Given the description of an element on the screen output the (x, y) to click on. 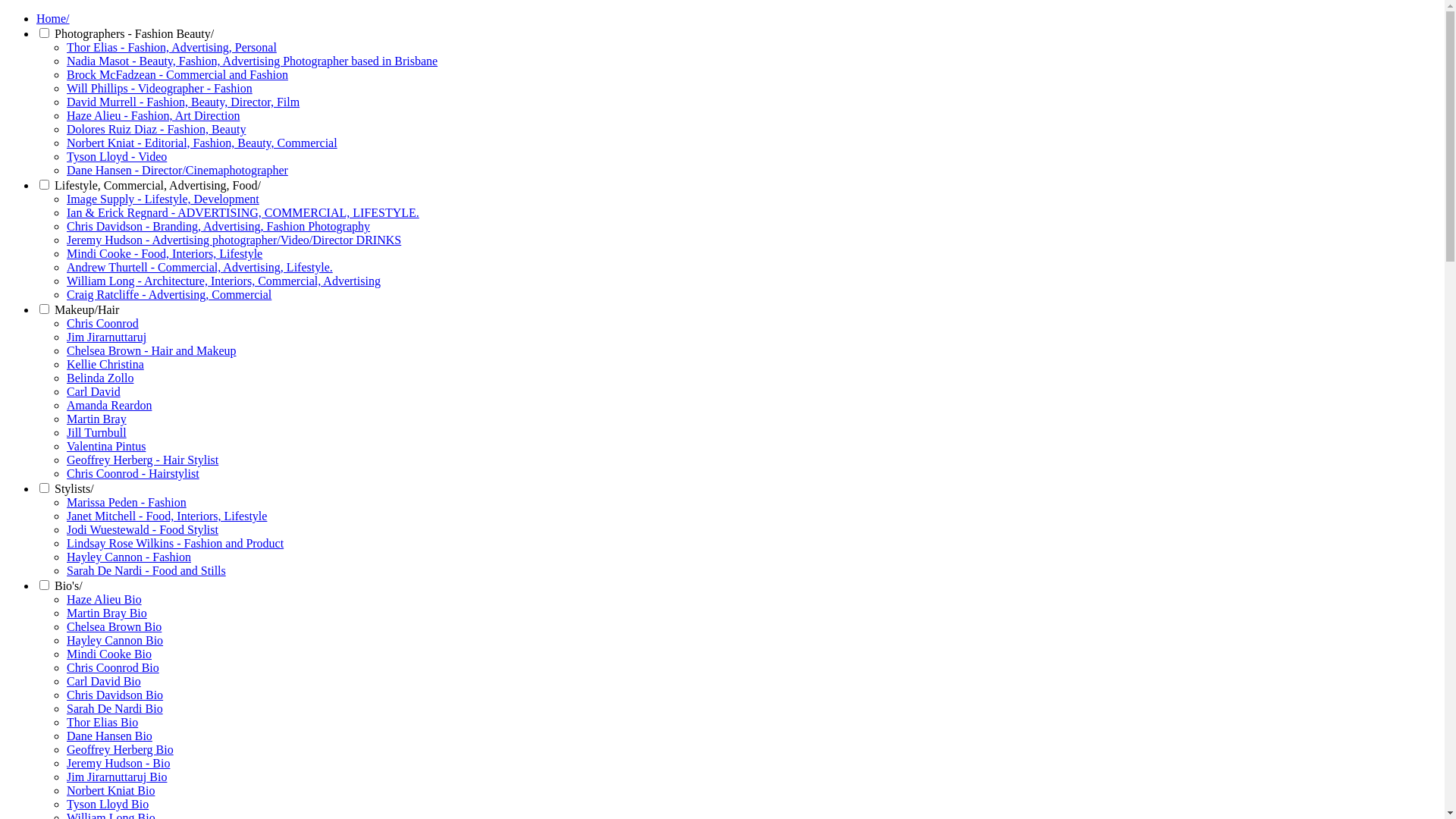
Sarah De Nardi - Food and Stills Element type: text (145, 570)
Brock McFadzean - Commercial and Fashion Element type: text (177, 74)
Geoffrey Herberg - Hair Stylist Element type: text (142, 459)
Photographers - Fashion Beauty/ Element type: text (133, 33)
Mindi Cooke Bio Element type: text (108, 653)
Jim Jirarnuttaruj Element type: text (106, 336)
Jim Jirarnuttaruj Bio Element type: text (116, 776)
Belinda Zollo Element type: text (99, 377)
Bio's/ Element type: text (68, 585)
Chris Davidson - Branding, Advertising, Fashion Photography Element type: text (218, 225)
Home/ Element type: text (52, 18)
Stylists/ Element type: text (74, 488)
Thor Elias Bio Element type: text (102, 721)
Marissa Peden - Fashion Element type: text (126, 501)
Valentina Pintus Element type: text (105, 445)
Chris Coonrod - Hairstylist Element type: text (132, 473)
Image Supply - Lifestyle, Development Element type: text (162, 198)
David Murrell - Fashion, Beauty, Director, Film Element type: text (182, 101)
Thor Elias - Fashion, Advertising, Personal Element type: text (171, 46)
Will Phillips - Videographer - Fashion Element type: text (159, 87)
Jill Turnbull Element type: text (96, 432)
Geoffrey Herberg Bio Element type: text (119, 749)
Lindsay Rose Wilkins - Fashion and Product Element type: text (174, 542)
Chelsea Brown Bio Element type: text (113, 626)
Tyson Lloyd - Video Element type: text (116, 156)
Chelsea Brown - Hair and Makeup Element type: text (151, 350)
Martin Bray Element type: text (96, 418)
Dane Hansen - Director/Cinemaphotographer Element type: text (177, 169)
Ian & Erick Regnard - ADVERTISING, COMMERCIAL, LIFESTYLE. Element type: text (242, 212)
Craig Ratcliffe - Advertising, Commercial Element type: text (168, 294)
Dane Hansen Bio Element type: text (109, 735)
Tyson Lloyd Bio Element type: text (107, 803)
Dolores Ruiz Diaz - Fashion, Beauty Element type: text (155, 128)
Andrew Thurtell - Commercial, Advertising, Lifestyle. Element type: text (199, 266)
Chris Coonrod Bio Element type: text (112, 667)
Hayley Cannon - Fashion Element type: text (128, 556)
Mindi Cooke - Food, Interiors, Lifestyle Element type: text (164, 253)
Haze Alieu Bio Element type: text (103, 599)
Martin Bray Bio Element type: text (106, 612)
Chris Davidson Bio Element type: text (114, 694)
Haze Alieu - Fashion, Art Direction Element type: text (152, 115)
Norbert Kniat Bio Element type: text (110, 790)
Kellie Christina Element type: text (105, 363)
Hayley Cannon Bio Element type: text (114, 639)
Lifestyle, Commercial, Advertising, Food/ Element type: text (157, 184)
Chris Coonrod Element type: text (102, 322)
Norbert Kniat - Editorial, Fashion, Beauty, Commercial Element type: text (201, 142)
Janet Mitchell - Food, Interiors, Lifestyle Element type: text (166, 515)
Sarah De Nardi Bio Element type: text (114, 708)
Carl David Element type: text (93, 391)
Carl David Bio Element type: text (103, 680)
Jeremy Hudson - Bio Element type: text (117, 762)
Makeup/Hair Element type: text (86, 309)
Amanda Reardon Element type: text (108, 404)
Jodi Wuestewald - Food Stylist Element type: text (142, 529)
